Given the description of an element on the screen output the (x, y) to click on. 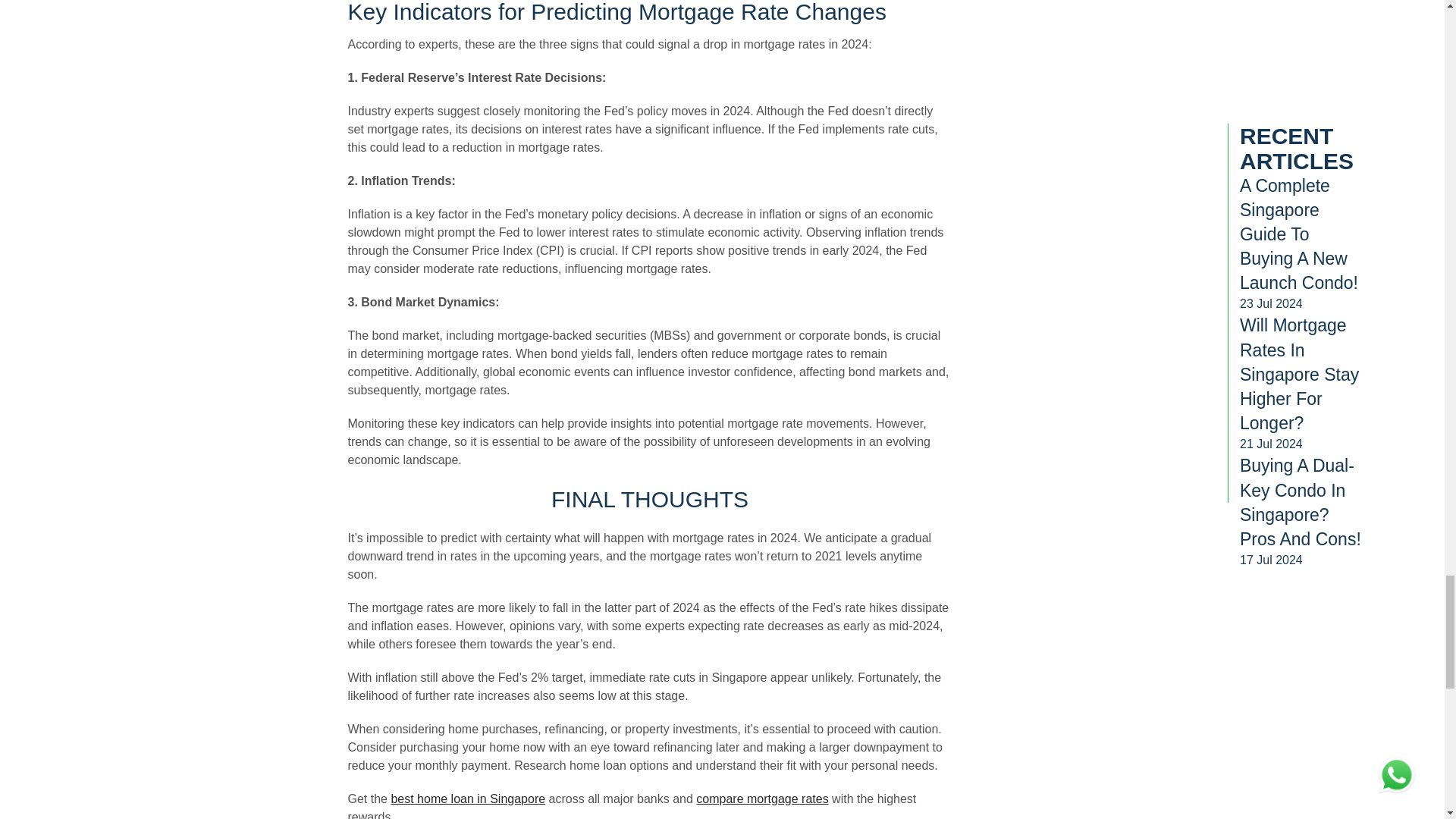
best home loan in Singapore (467, 798)
compare mortgage rates (761, 798)
